Given the description of an element on the screen output the (x, y) to click on. 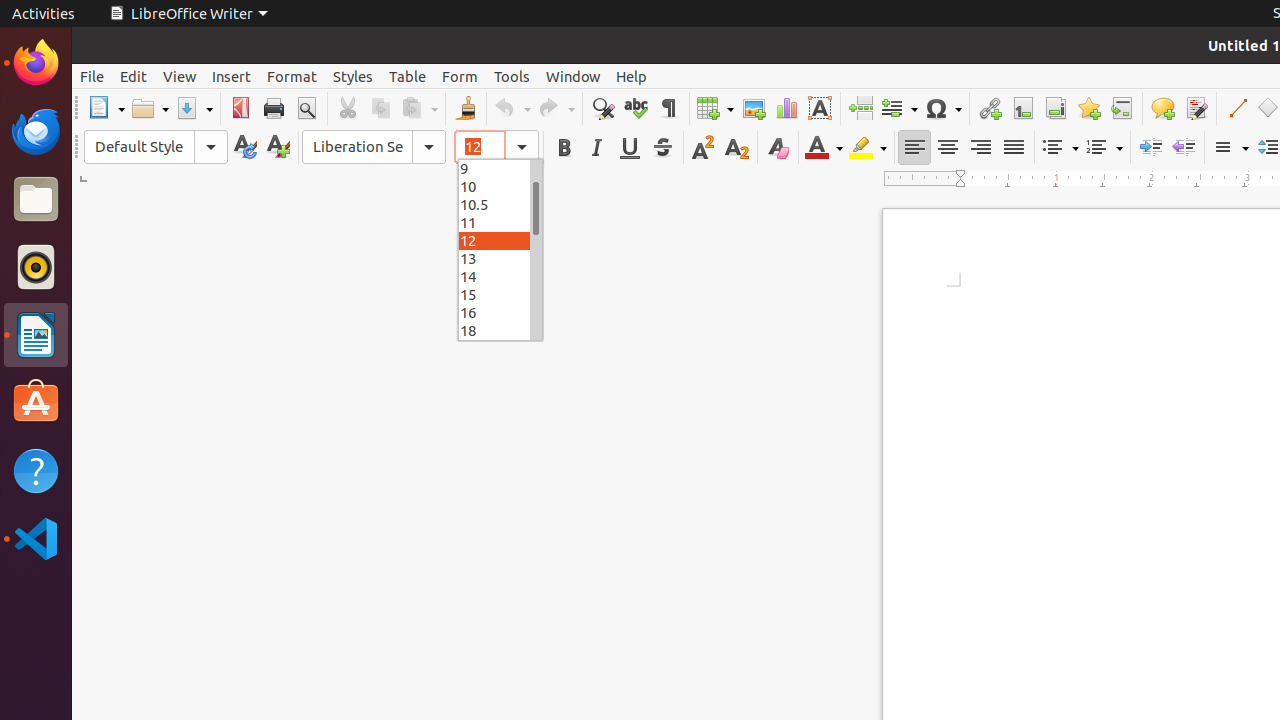
Insert Element type: menu (231, 76)
Copy Element type: push-button (380, 108)
Save Element type: push-button (194, 108)
13 Element type: list-item (500, 258)
Clone Element type: push-button (465, 108)
